Given the description of an element on the screen output the (x, y) to click on. 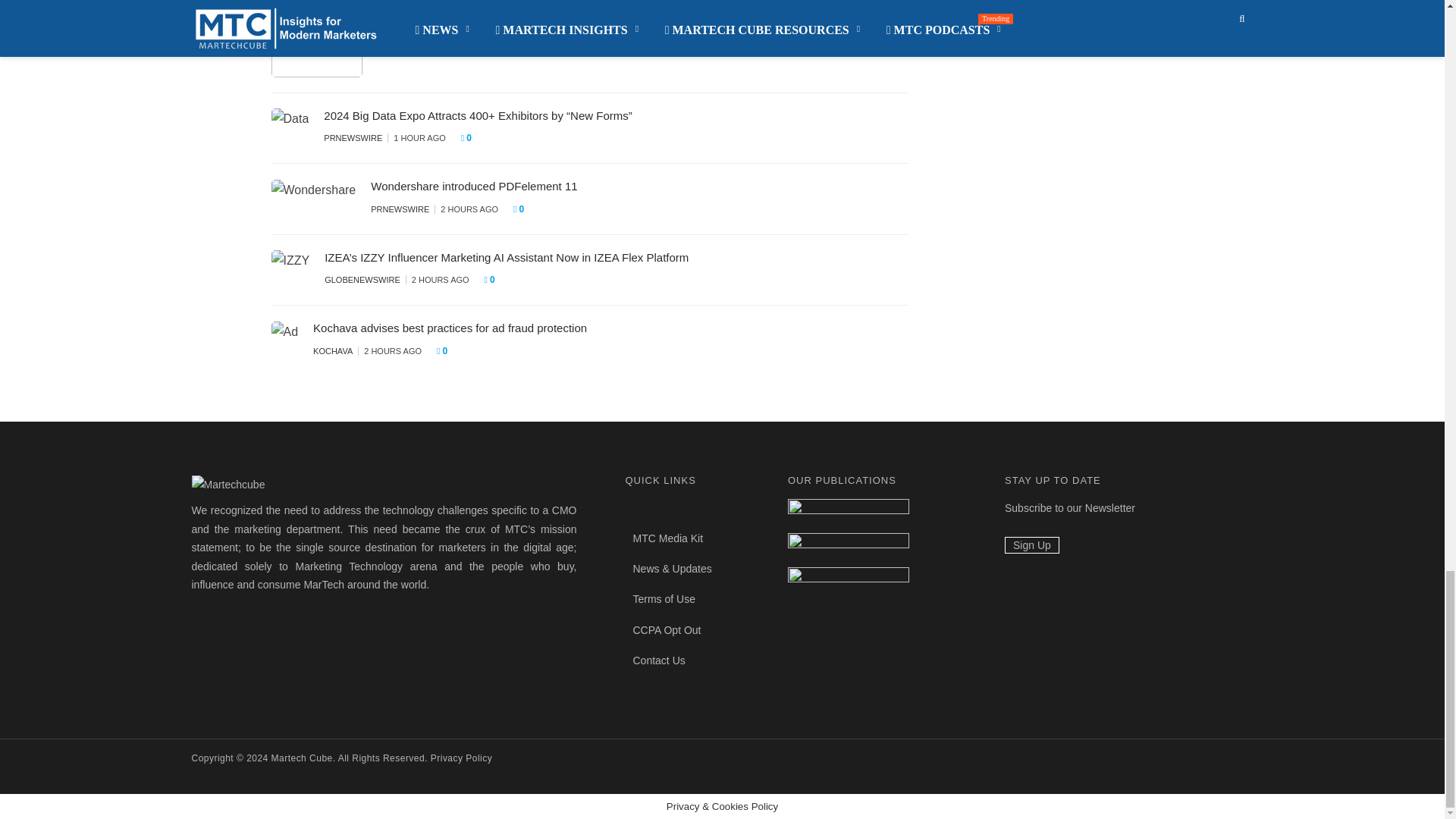
Comments (470, 138)
View all posts by BusinessWire (409, 43)
Comments (522, 209)
View all posts by PRNewswire (352, 137)
View all posts by PRNewswire (400, 208)
Comments (530, 44)
View Wondershare introduced PDFelement 11 (473, 185)
